Given the description of an element on the screen output the (x, y) to click on. 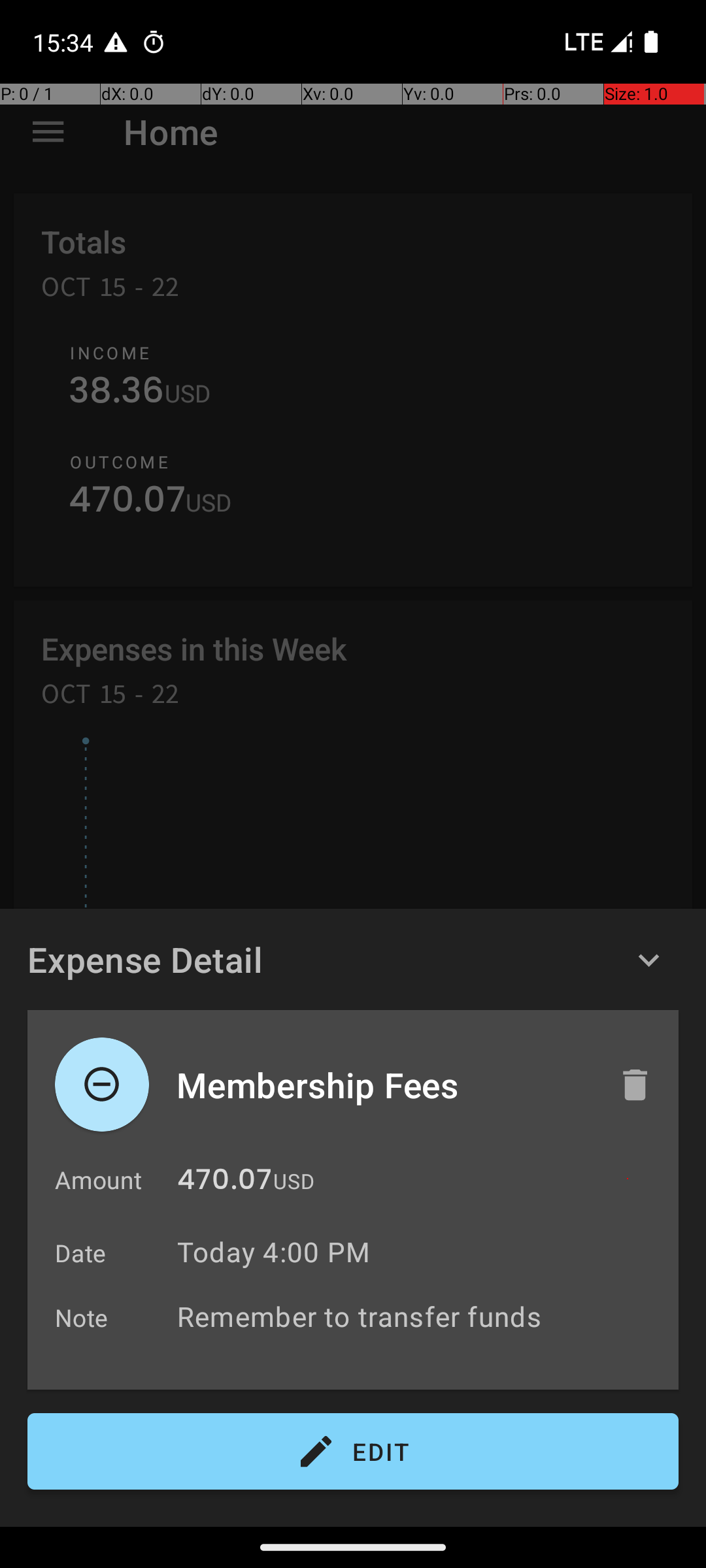
Membership Fees Element type: android.widget.TextView (383, 1084)
470.07 Element type: android.widget.TextView (224, 1182)
Today 4:00 PM Element type: android.widget.TextView (273, 1251)
Remember to transfer funds Element type: android.widget.TextView (420, 1315)
